Given the description of an element on the screen output the (x, y) to click on. 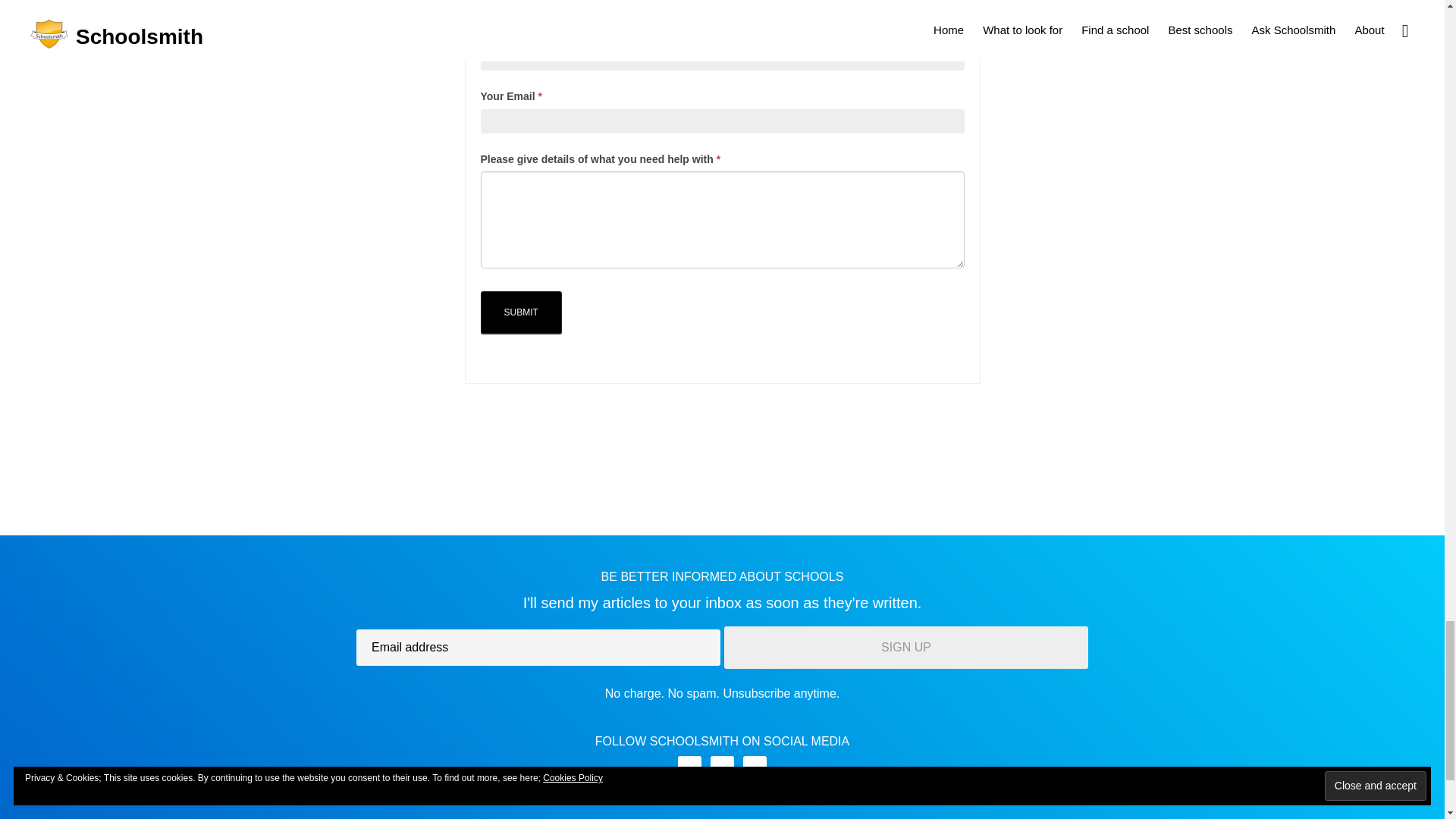
Sign Up (905, 647)
here (836, 2)
Sign Up (905, 647)
SUBMIT (521, 312)
